Given the description of an element on the screen output the (x, y) to click on. 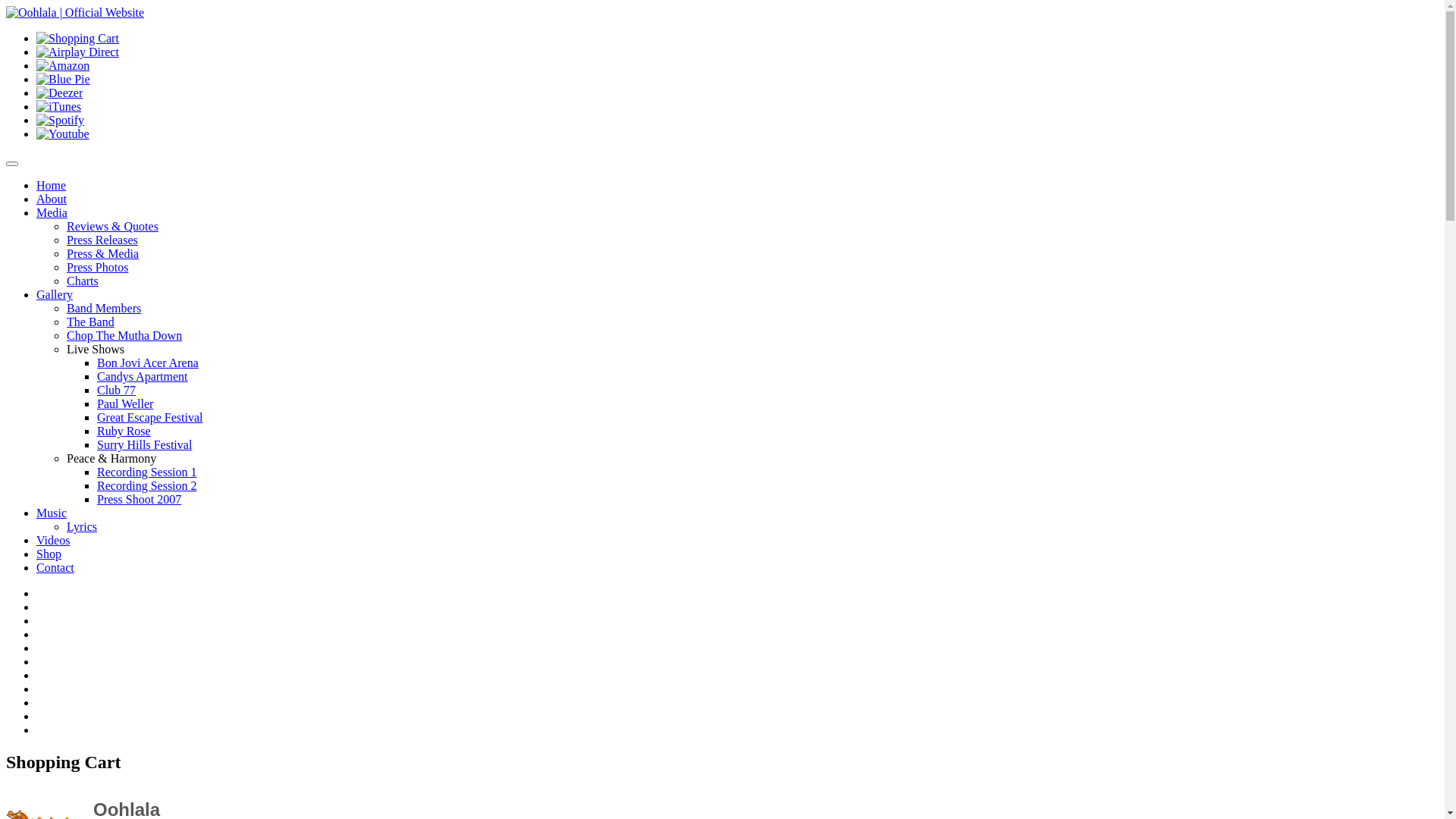
Lyrics Element type: text (81, 526)
About Element type: text (51, 198)
Shop Element type: text (48, 553)
Youtube Element type: hover (62, 134)
Media Element type: text (51, 212)
Peace & Harmony Element type: text (111, 457)
Gallery Element type: text (54, 294)
Surry Hills Festival Element type: text (144, 444)
Recording Session 2 Element type: text (147, 485)
Amazon Element type: hover (62, 65)
Deezer Element type: hover (59, 93)
Press Releases Element type: text (102, 239)
Airplay Direct Element type: hover (77, 51)
Ruby Rose Element type: text (123, 430)
Band Members Element type: text (103, 307)
Deezer Element type: hover (59, 92)
Great Escape Festival Element type: text (150, 417)
Blue Pie  Element type: hover (63, 78)
Reviews & Quotes Element type: text (112, 225)
Oohlala | Official Website Element type: hover (75, 12)
Bon Jovi Acer Arena Element type: text (147, 362)
Paul Weller Element type: text (125, 403)
Club 77 Element type: text (116, 389)
Youtube Element type: hover (62, 133)
Chop The Mutha Down Element type: text (124, 335)
Press Shoot 2007 Element type: text (139, 498)
Videos Element type: text (52, 539)
iTunes Element type: hover (58, 106)
Music Element type: text (51, 512)
Live Shows Element type: text (95, 348)
Amazon Element type: hover (62, 65)
Blue Pie  Element type: hover (63, 79)
Home Element type: text (50, 184)
Recording Session 1 Element type: text (147, 471)
Charts Element type: text (82, 280)
Shopping Cart Element type: hover (77, 37)
Press & Media Element type: text (102, 253)
iTunes Element type: hover (58, 106)
Press Photos Element type: text (97, 266)
Candys Apartment Element type: text (142, 376)
The Band Element type: text (90, 321)
Shopping Cart Element type: hover (77, 38)
Spotify Element type: hover (60, 119)
Airplay Direct Element type: hover (77, 52)
Contact Element type: text (55, 567)
Spotify Element type: hover (60, 120)
